Given the description of an element on the screen output the (x, y) to click on. 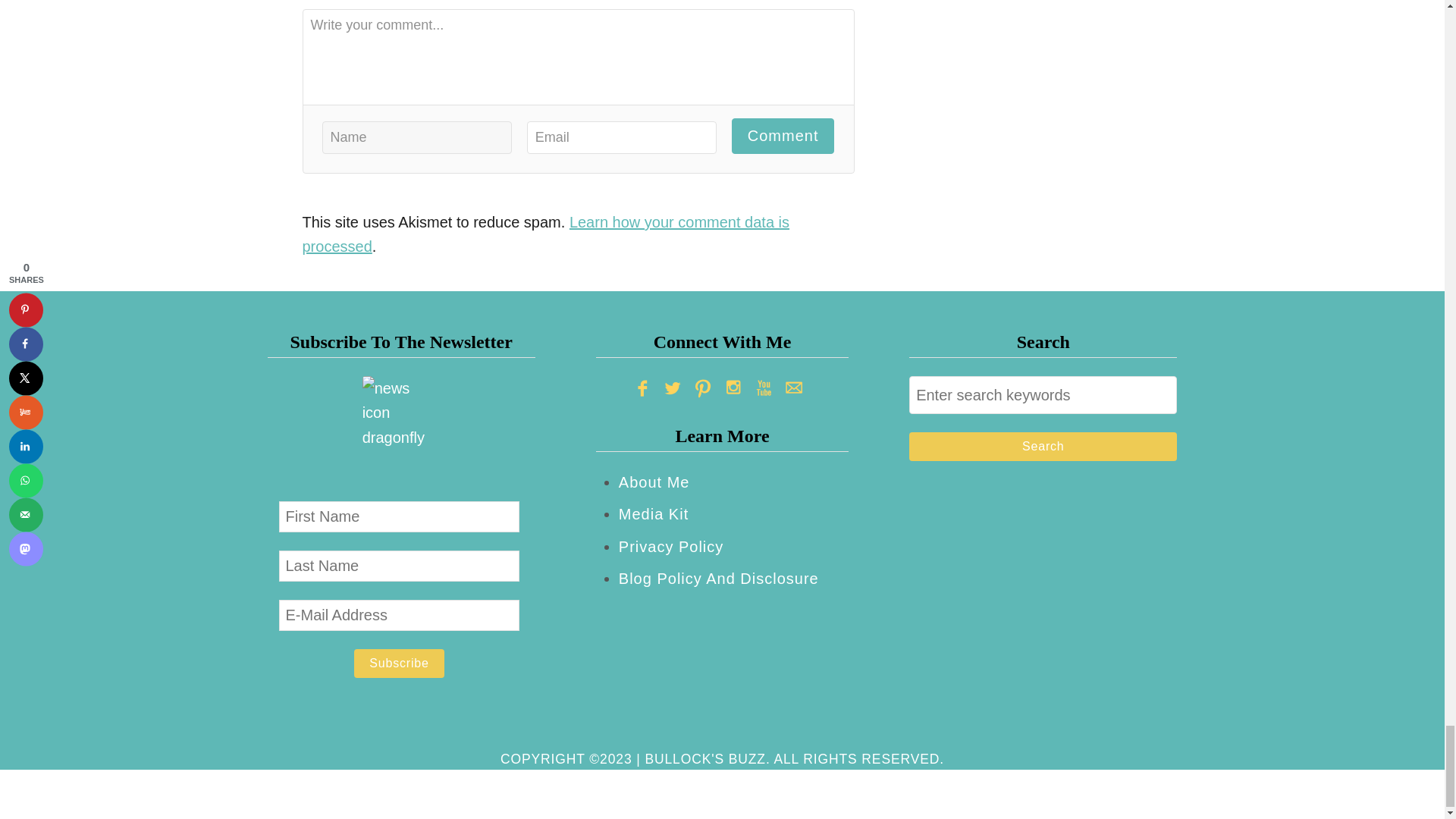
Subscribe (398, 663)
Search (1042, 446)
Search for: (1042, 394)
Search (1042, 446)
